Given the description of an element on the screen output the (x, y) to click on. 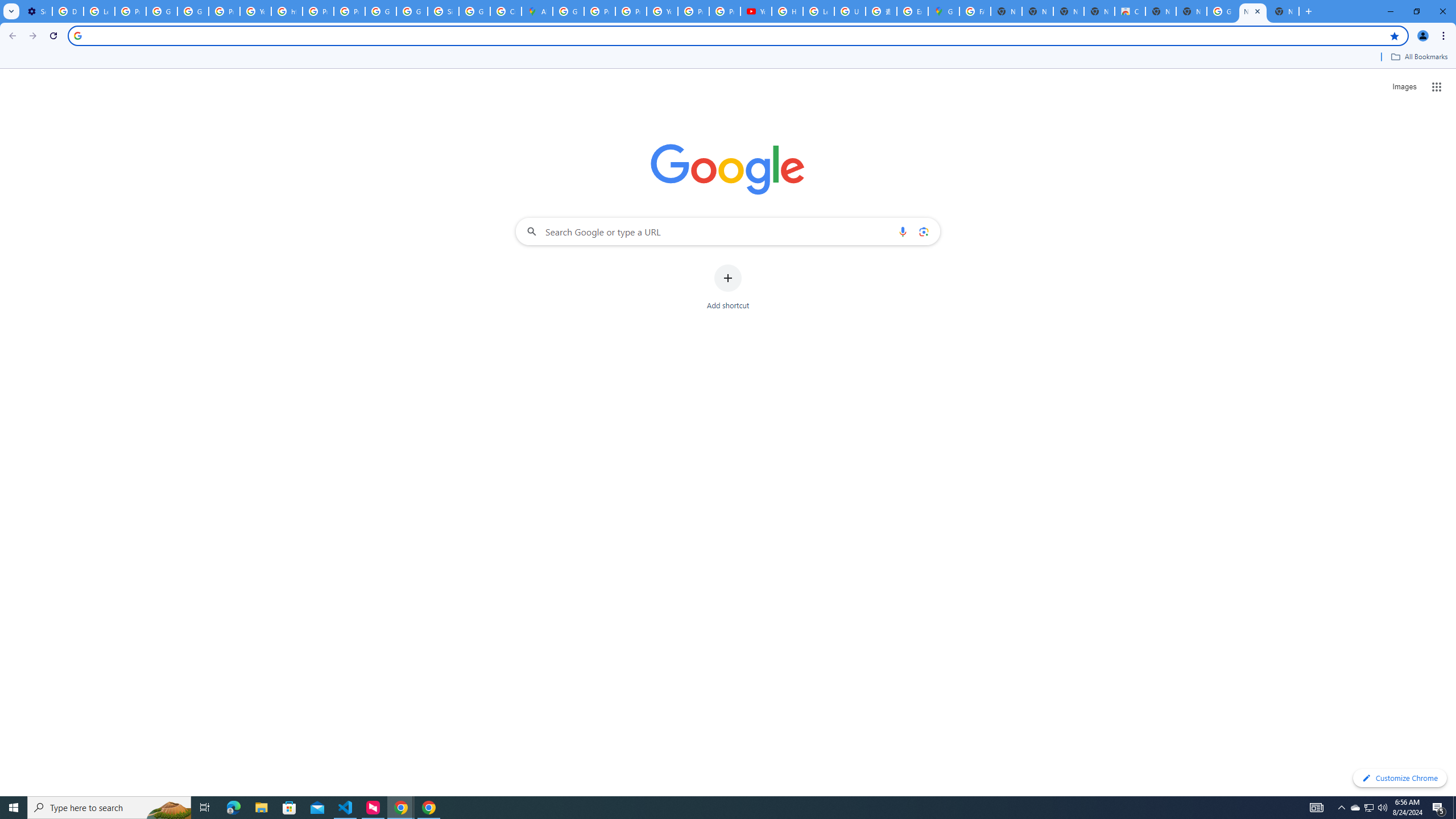
Sign in - Google Accounts (443, 11)
YouTube (756, 11)
Search Google or type a URL (727, 230)
